Given the description of an element on the screen output the (x, y) to click on. 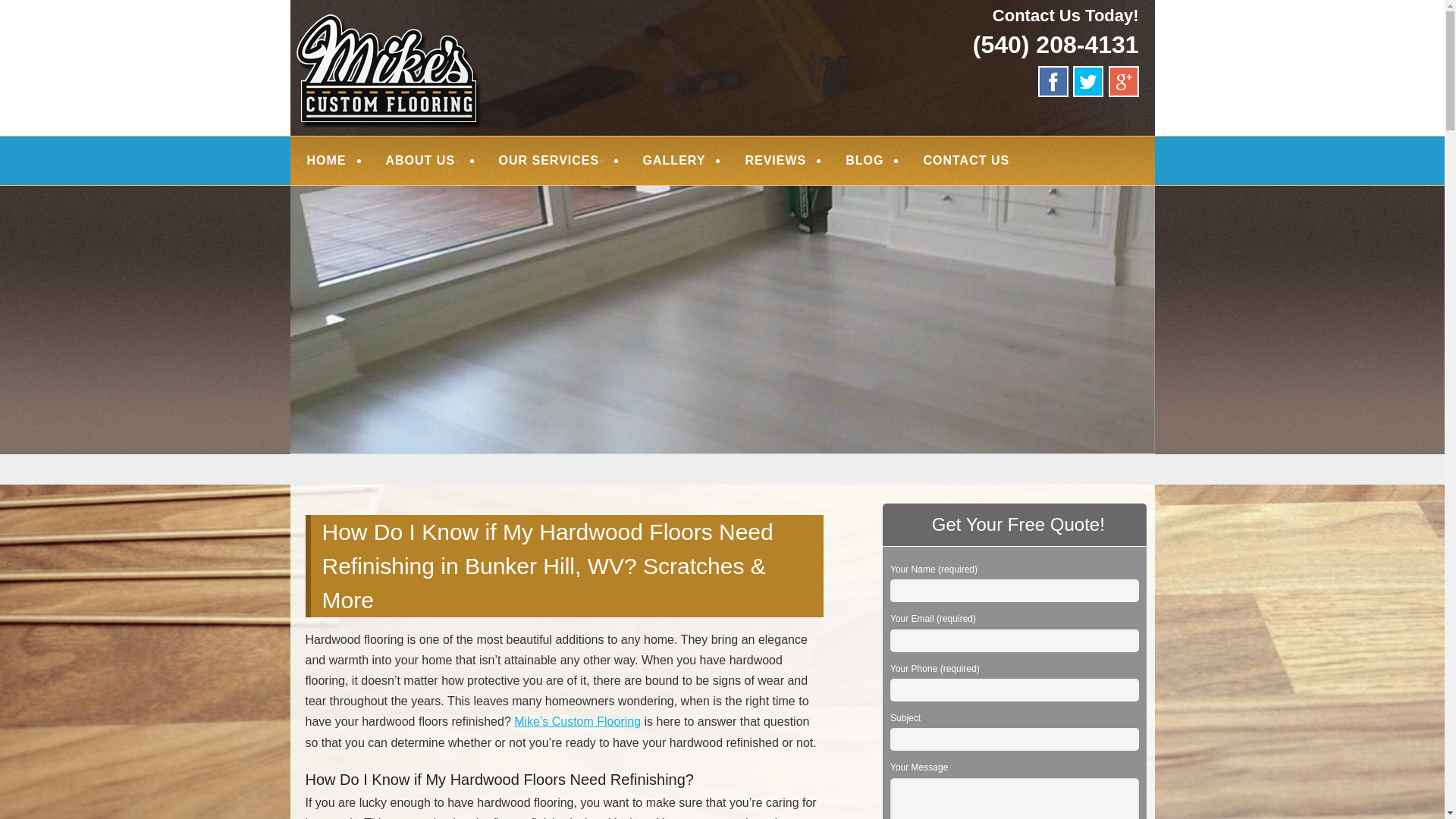
HOME (325, 160)
OUR SERVICES (551, 160)
Mikes Custom Flooring (487, 32)
MIKES CUSTOM FLOORING (487, 32)
CONTACT US (965, 160)
ABOUT US (421, 160)
REVIEWS (774, 160)
BLOG (864, 160)
GALLERY (673, 160)
